Given the description of an element on the screen output the (x, y) to click on. 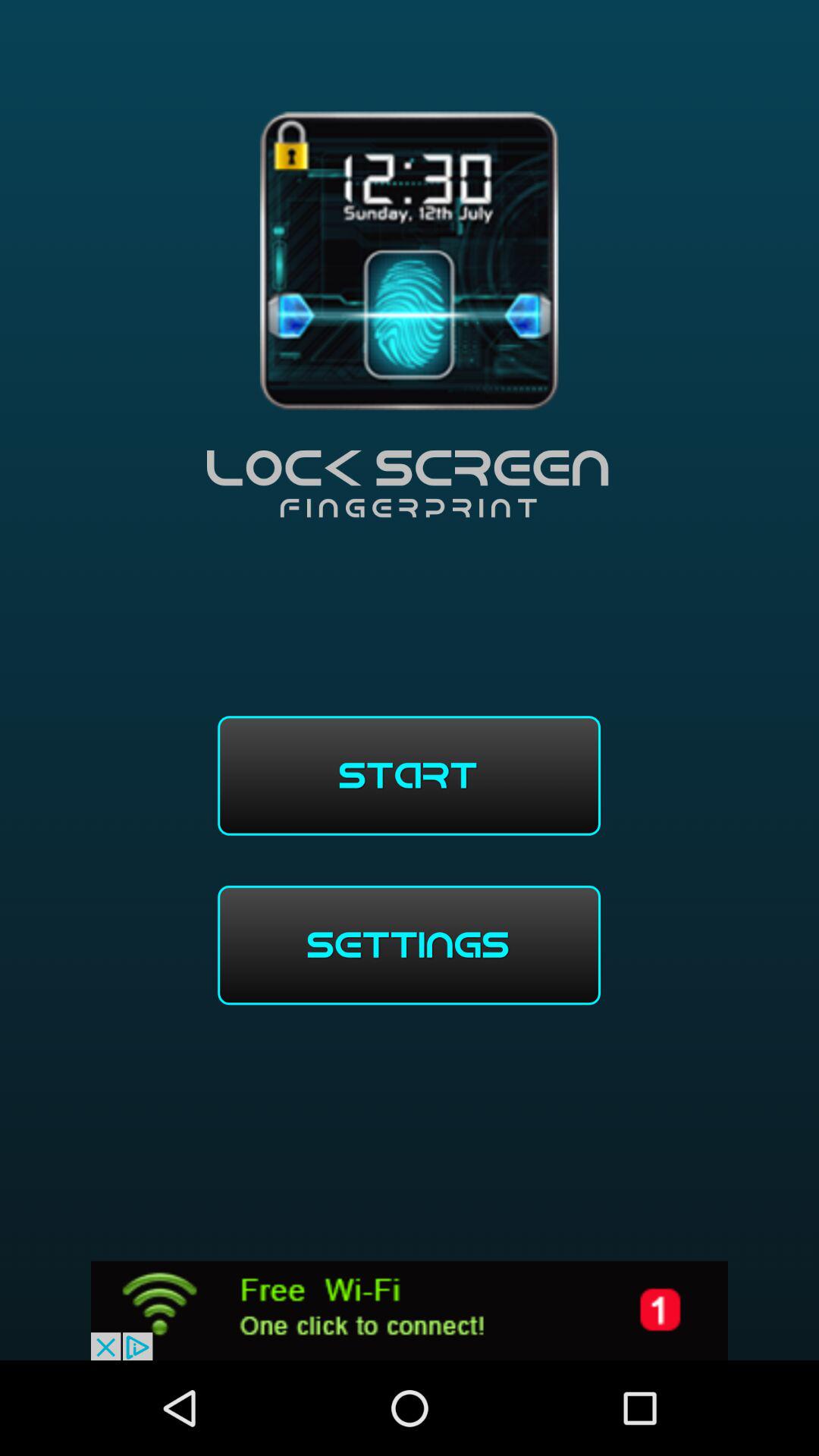
advertisement link (409, 1310)
